Given the description of an element on the screen output the (x, y) to click on. 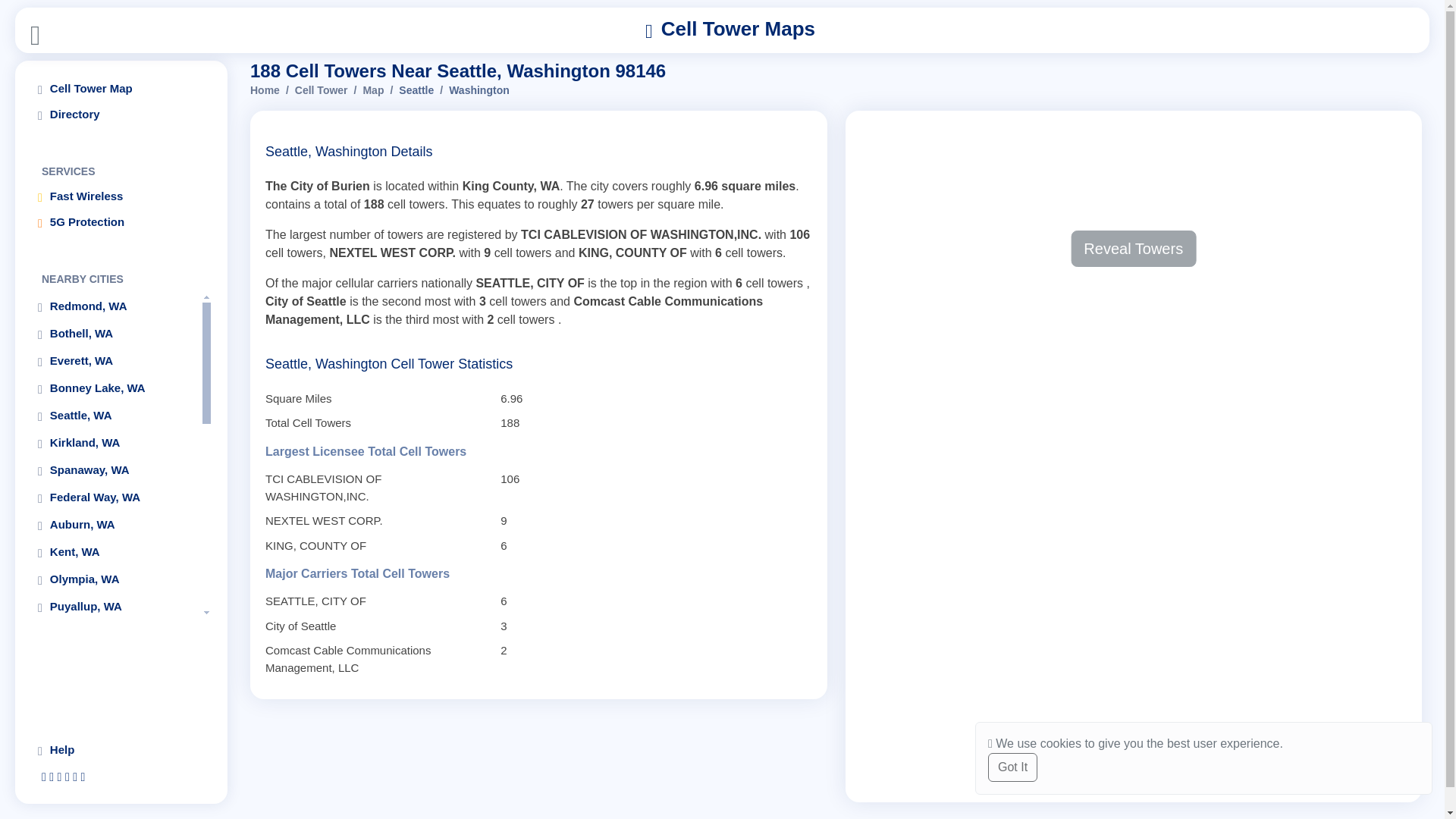
Spanaway, WA (115, 469)
Lynnwood, WA (115, 688)
Lacey, WA (115, 661)
Everett, WA (115, 360)
Federal Way, WA (115, 497)
Puyallup, WA (115, 606)
Directory (121, 114)
Auburn, WA (115, 524)
Help (121, 749)
Renton, WA (115, 633)
Kirkland, WA (115, 442)
Edmonds, WA (115, 743)
Cell Tower Map (121, 88)
Bellevue, WA (115, 715)
Cell Tower Maps (730, 30)
